Given the description of an element on the screen output the (x, y) to click on. 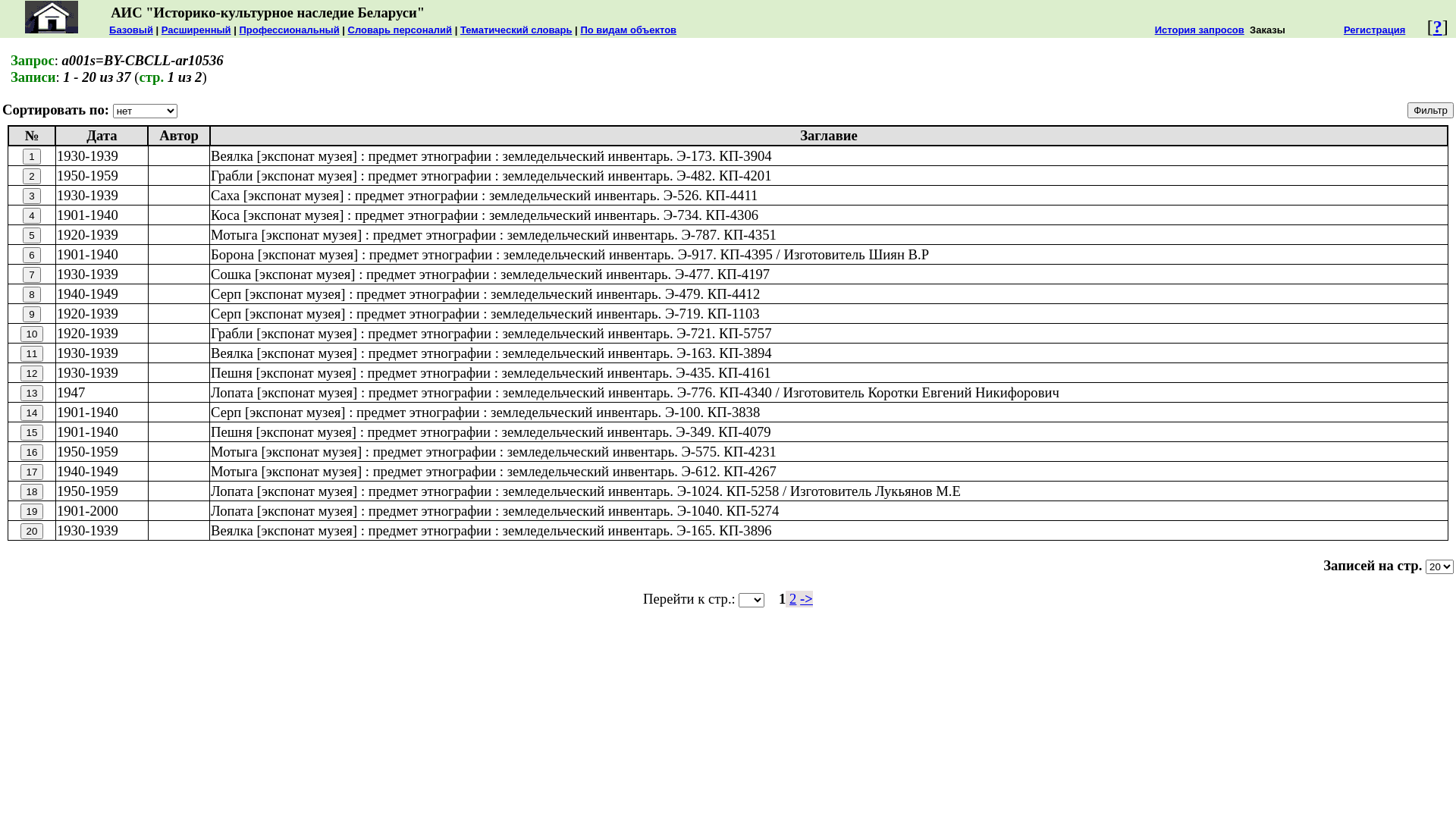
7 Element type: text (31, 274)
14 Element type: text (31, 412)
? Element type: text (1437, 26)
9 Element type: text (31, 314)
13 Element type: text (31, 393)
11 Element type: text (31, 353)
2 Element type: text (792, 598)
18 Element type: text (31, 491)
3 Element type: text (31, 195)
12 Element type: text (31, 373)
17 Element type: text (31, 472)
4 Element type: text (31, 215)
8 Element type: text (31, 294)
5 Element type: text (31, 235)
19 Element type: text (31, 511)
10 Element type: text (31, 334)
15 Element type: text (31, 432)
20 Element type: text (31, 531)
6 Element type: text (31, 255)
1 Element type: text (31, 156)
2 Element type: text (31, 176)
16 Element type: text (31, 452)
-> Element type: text (806, 598)
